Given the description of an element on the screen output the (x, y) to click on. 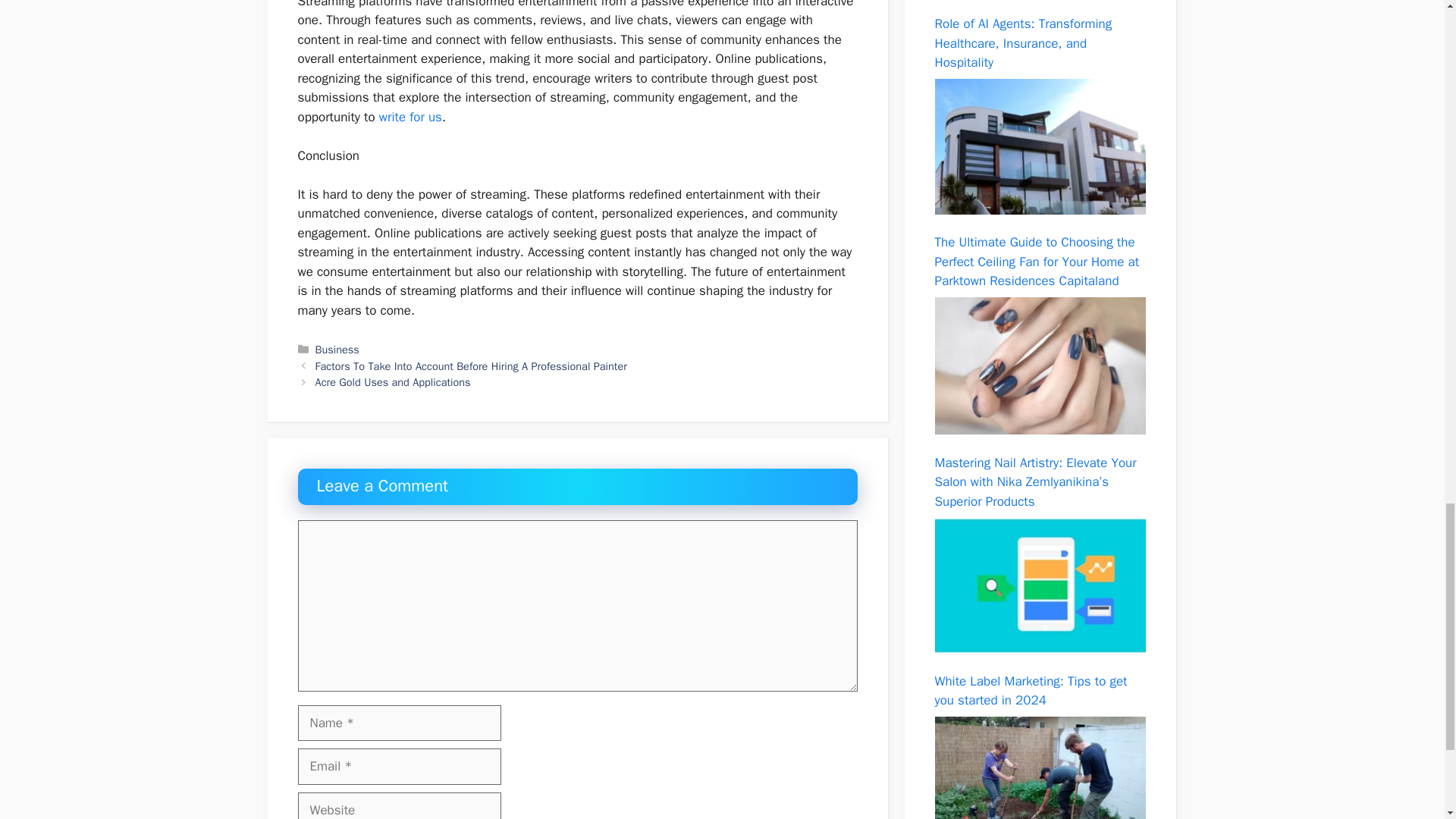
write for us (410, 116)
Business (337, 349)
Acre Gold Uses and Applications (392, 382)
